Given the description of an element on the screen output the (x, y) to click on. 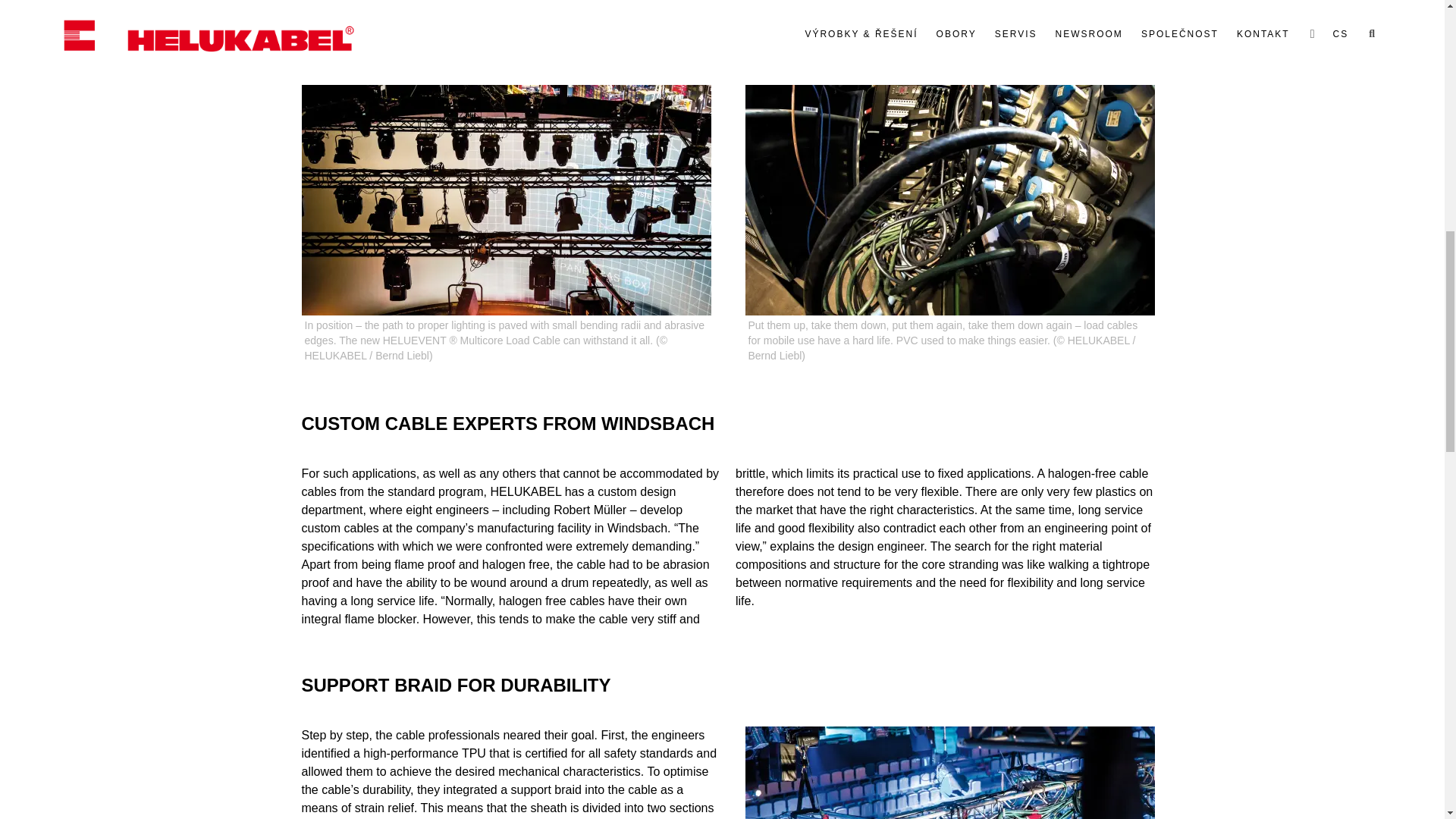
under the ceiling of the tv studio (949, 772)
Spotlights under the ceiling (506, 200)
close-up cables (949, 200)
